Given the description of an element on the screen output the (x, y) to click on. 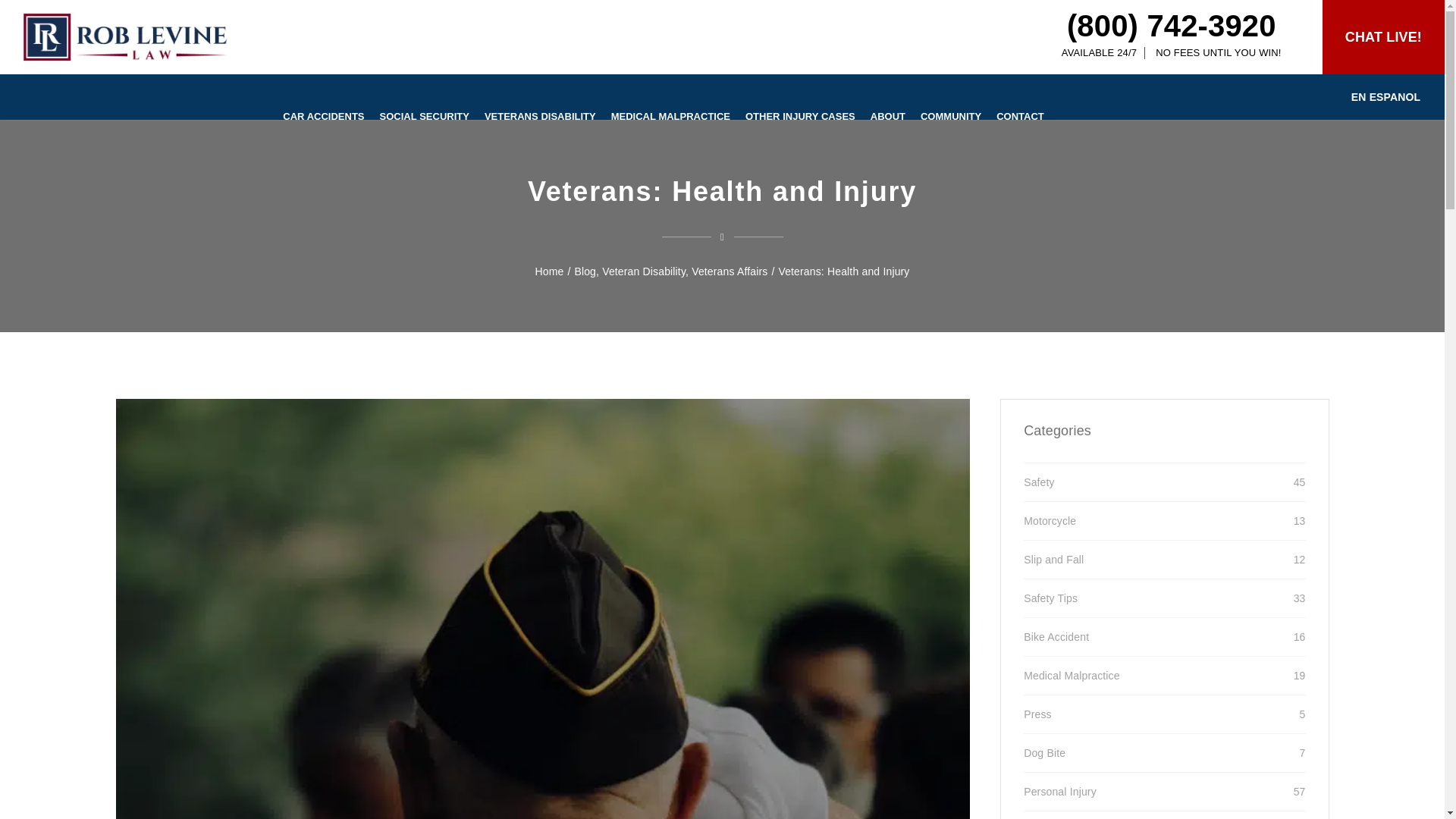
COMMUNITY (950, 116)
MEDICAL MALPRACTICE (671, 116)
ABOUT (887, 116)
TOP Personal Injury Attorney Rhode Island (125, 37)
CAR ACCIDENTS (323, 116)
OTHER INJURY CASES (800, 116)
CONTACT (1019, 116)
SOCIAL SECURITY (424, 116)
VETERANS DISABILITY (540, 116)
